Given the description of an element on the screen output the (x, y) to click on. 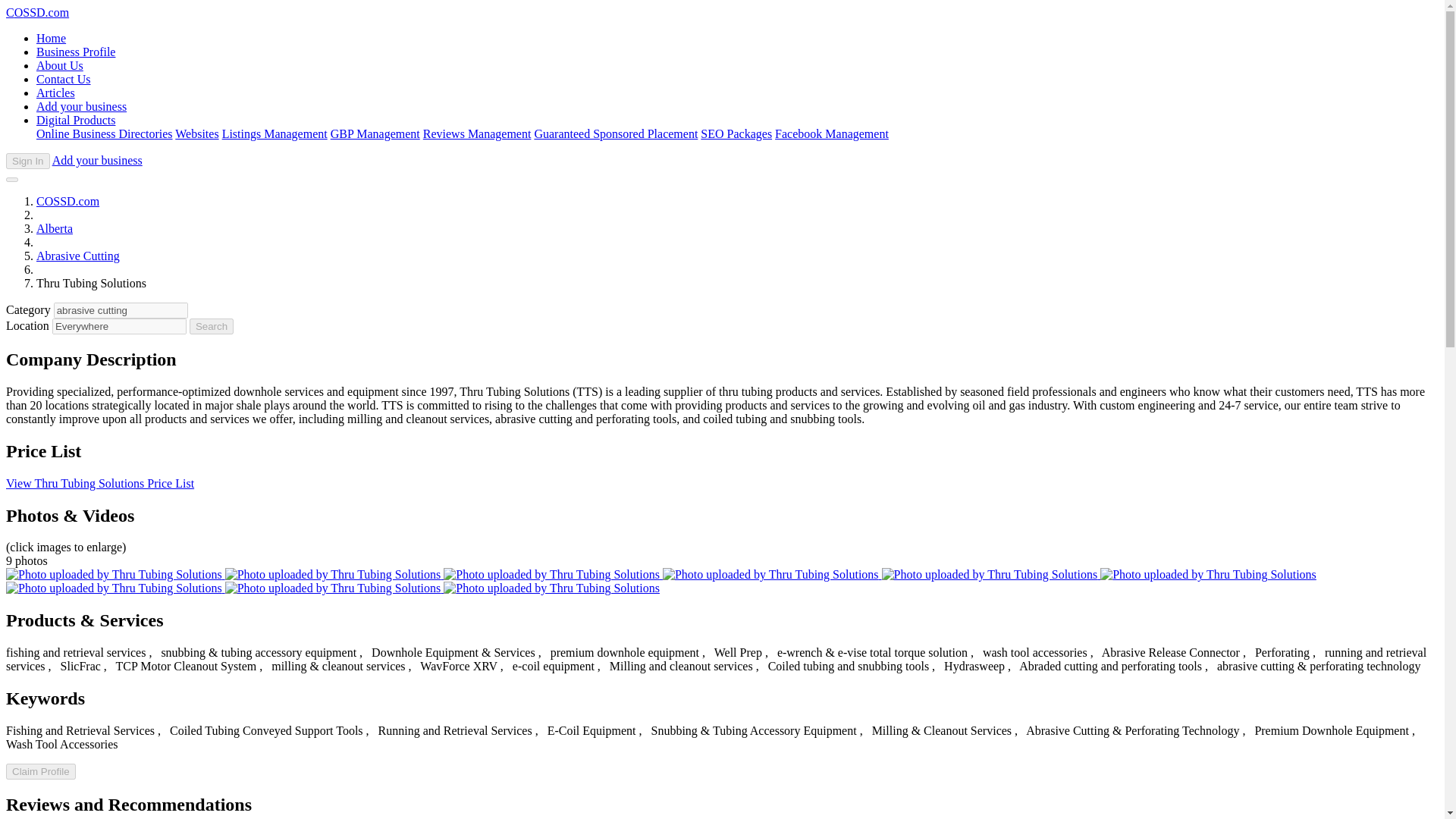
Photo uploaded by Thru Tubing Solutions (115, 574)
Facebook Management (831, 133)
Photo uploaded by Thru Tubing Solutions (553, 574)
abrasive cutting (120, 310)
SEO Packages (735, 133)
Photo uploaded by Thru Tubing Solutions (772, 574)
Search (210, 326)
Photo uploaded by Thru Tubing Solutions (334, 587)
COSSD.com (67, 201)
Everywhere (119, 326)
Home (50, 38)
Add your business (97, 160)
Photo uploaded by Thru Tubing Solutions (1208, 574)
Digital Products (75, 119)
Photo uploaded by Thru Tubing Solutions (551, 587)
